Given the description of an element on the screen output the (x, y) to click on. 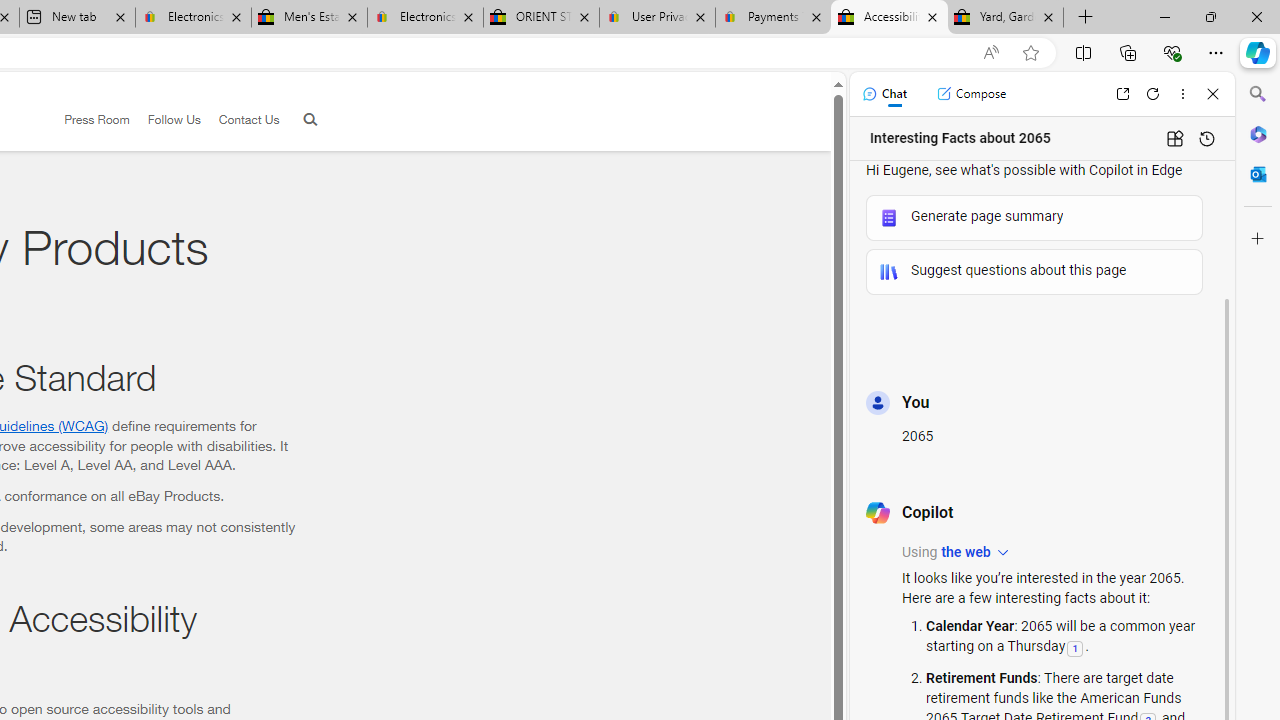
Customize (1258, 239)
Chat (884, 93)
Contact Us (239, 120)
Outlook (1258, 174)
Contact Us (248, 119)
Open link in new tab (1122, 93)
Compose (971, 93)
